Given the description of an element on the screen output the (x, y) to click on. 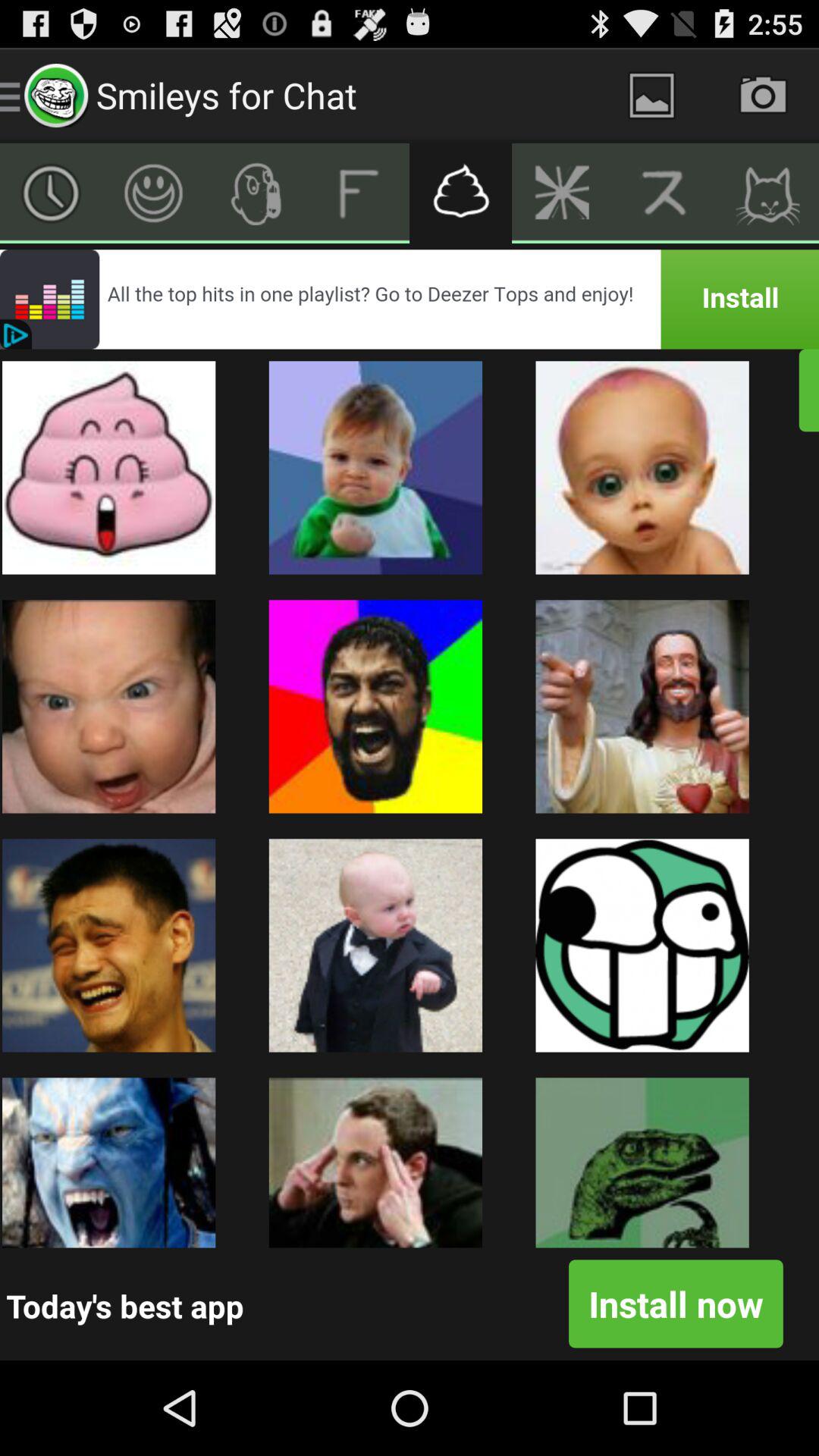
find emojis (460, 193)
